Given the description of an element on the screen output the (x, y) to click on. 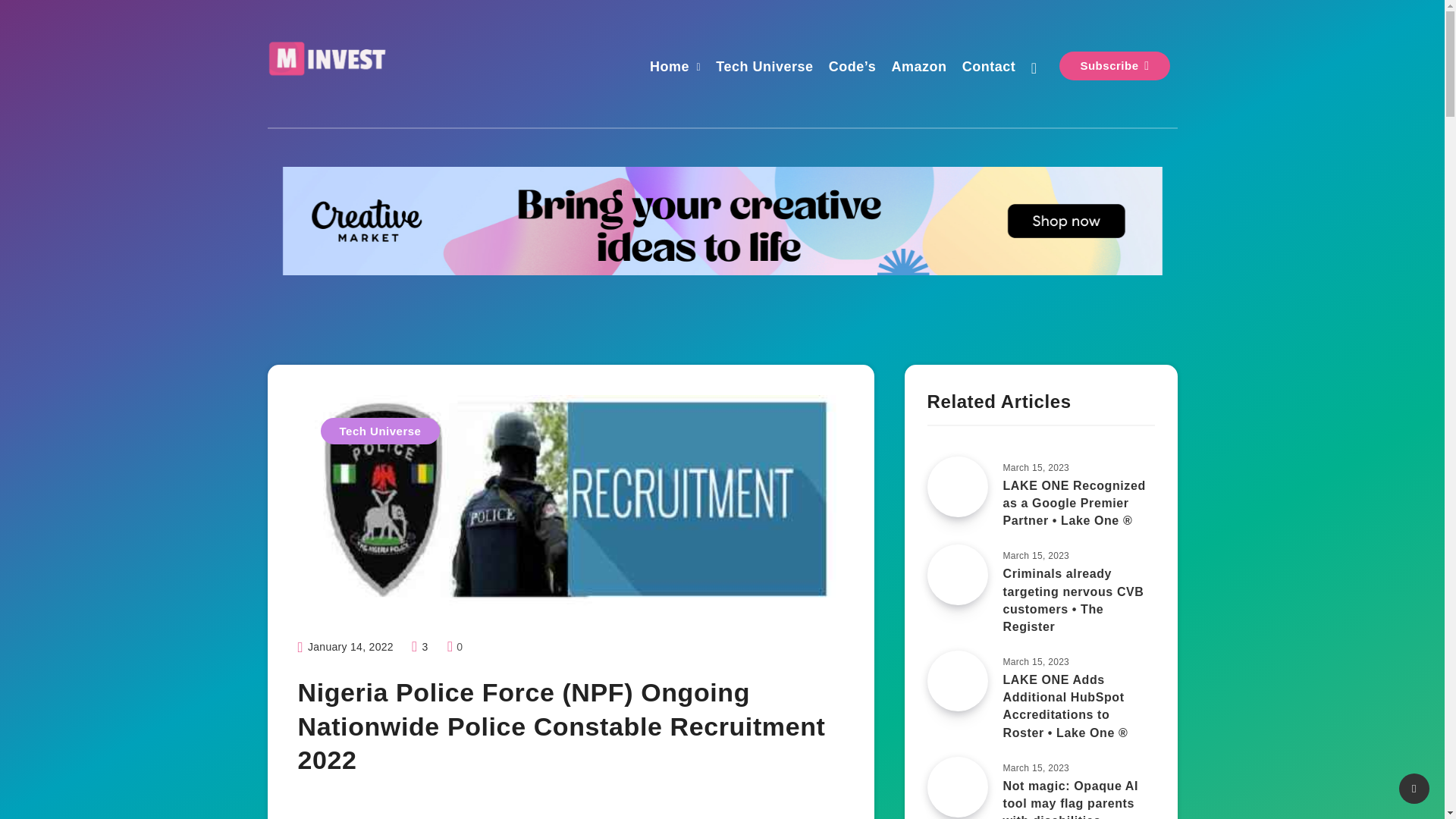
Subscribe (1114, 65)
Contact (989, 68)
0 (454, 646)
Home (668, 68)
Amazon (919, 68)
Tech Universe (764, 68)
Tech Universe (379, 430)
Go to comments (454, 646)
Views (421, 646)
